Given the description of an element on the screen output the (x, y) to click on. 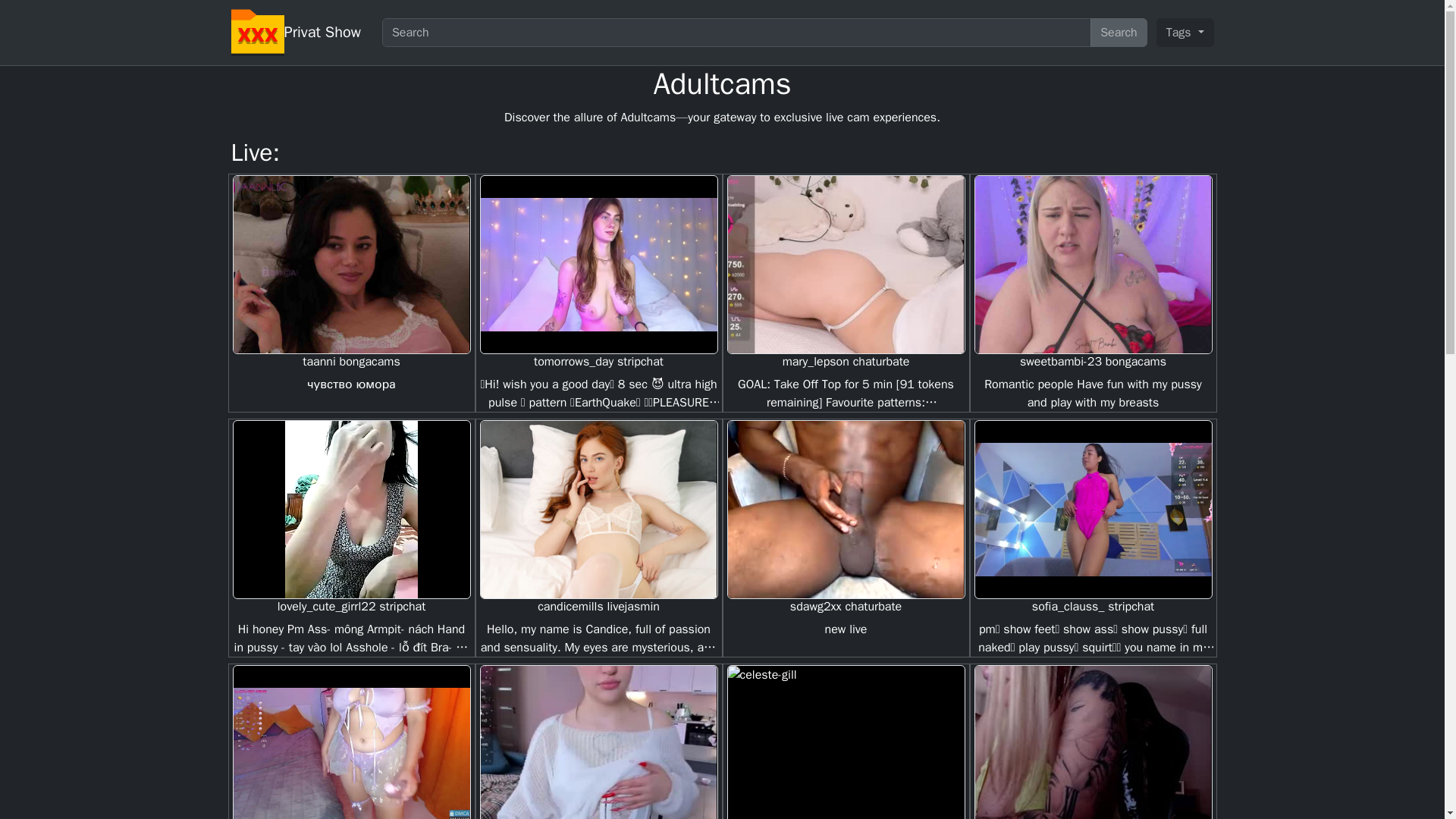
Tags (1185, 32)
Search (1118, 32)
Privat Show (321, 32)
